Given the description of an element on the screen output the (x, y) to click on. 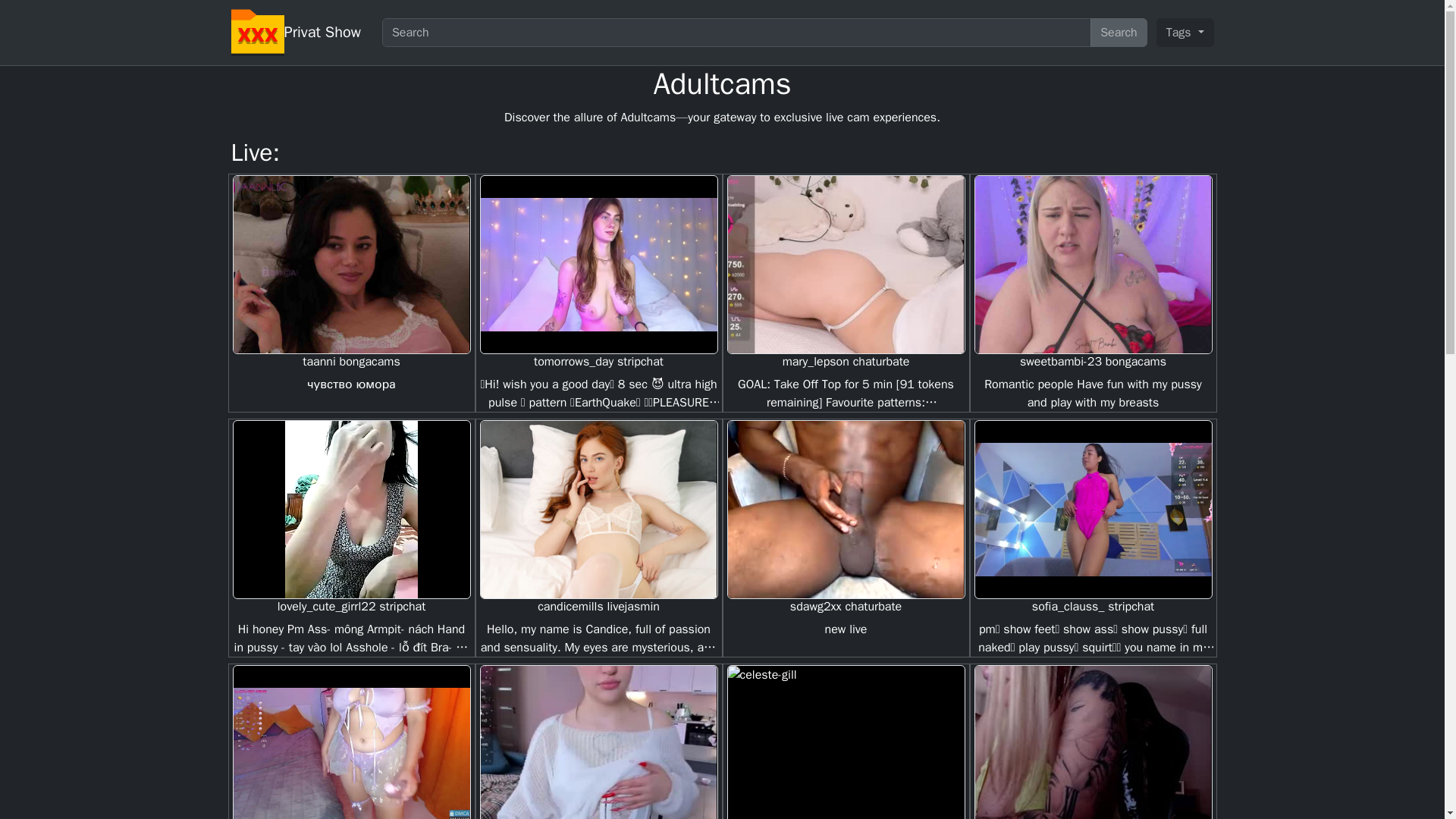
Tags (1185, 32)
Search (1118, 32)
Privat Show (321, 32)
